Given the description of an element on the screen output the (x, y) to click on. 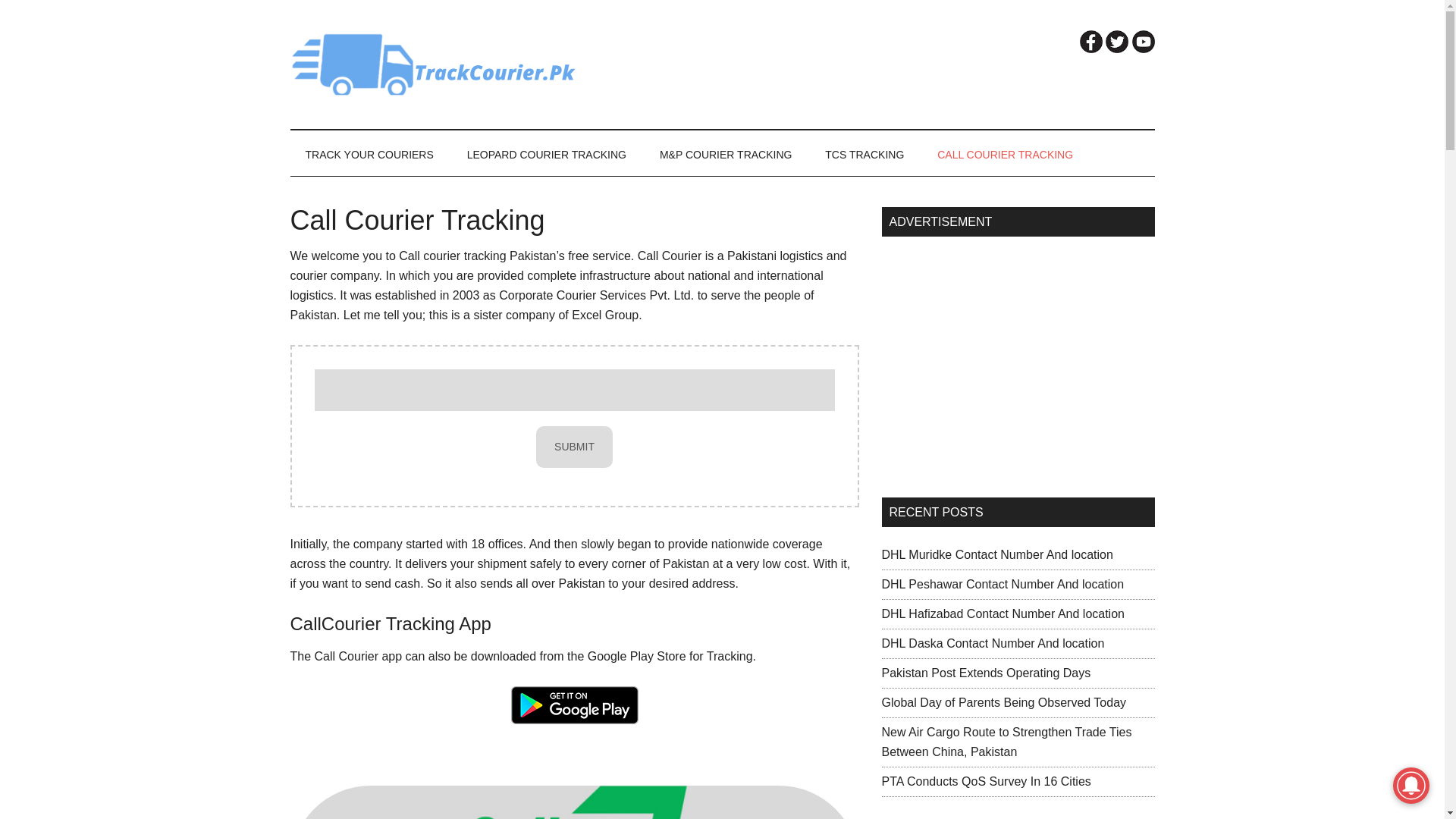
LEOPARD COURIER TRACKING (546, 154)
TCS TRACKING (863, 154)
Callcourier  (574, 802)
DHL Hafizabad Contact Number And location (1002, 613)
PTA Conducts QoS Survey In 16 Cities (985, 780)
Submit (573, 446)
TRACK YOUR COURIERS (368, 154)
DHL Muridke Contact Number And location (996, 554)
CALL COURIER TRACKING (1004, 154)
Global Day of Parents Being Observed Today (1002, 702)
DHL Daska Contact Number And location (991, 643)
DHL Peshawar Contact Number And location (1002, 584)
Advertisement (1017, 360)
